Given the description of an element on the screen output the (x, y) to click on. 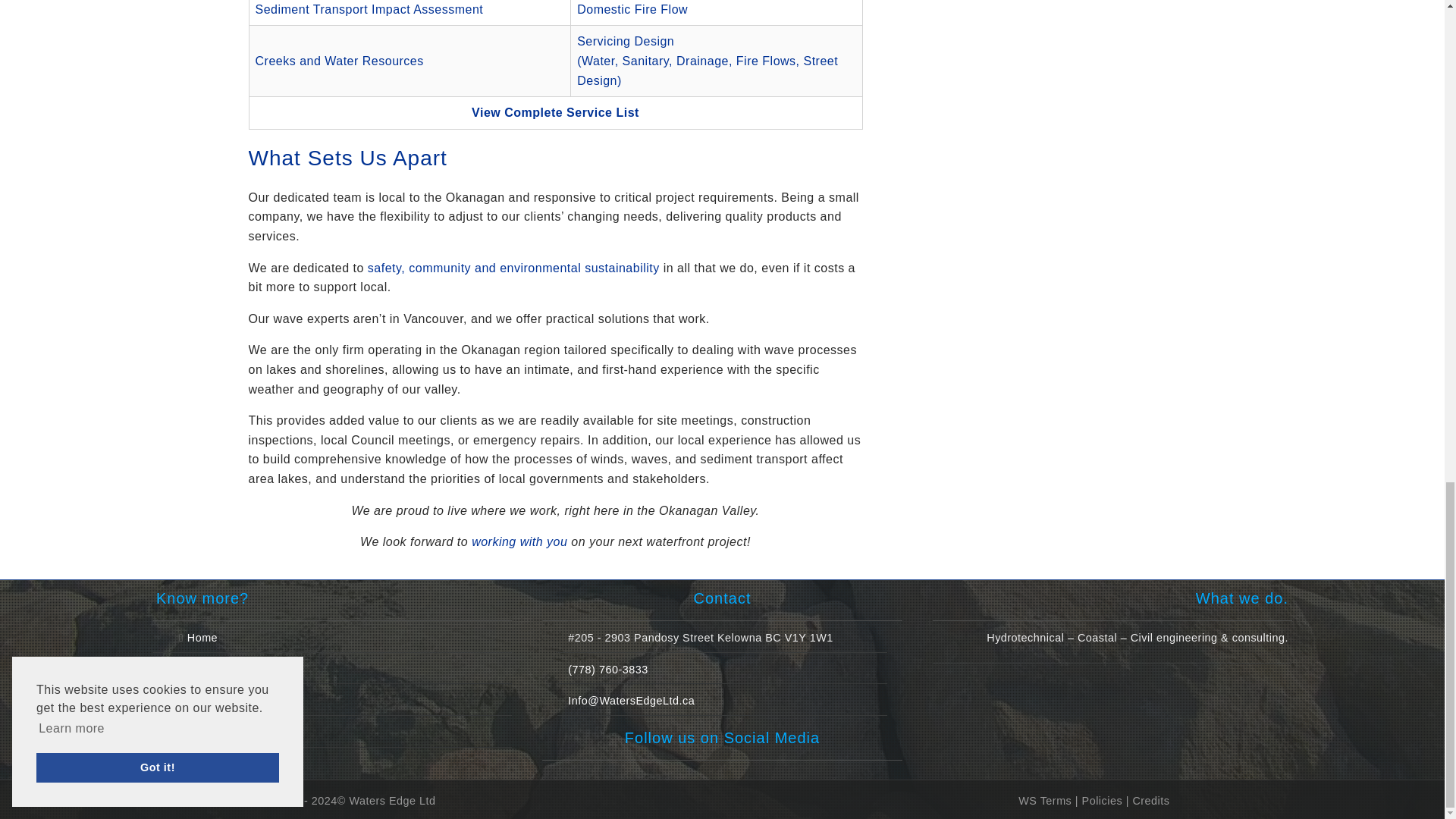
safety, community and environmental sustainability (513, 267)
Creeks and Water Resources (338, 60)
Domestic Fire Flow (631, 9)
View Complete Service List (555, 112)
Sediment Transport Impact Assessment (368, 9)
working with you (519, 541)
Home (201, 637)
